Given the description of an element on the screen output the (x, y) to click on. 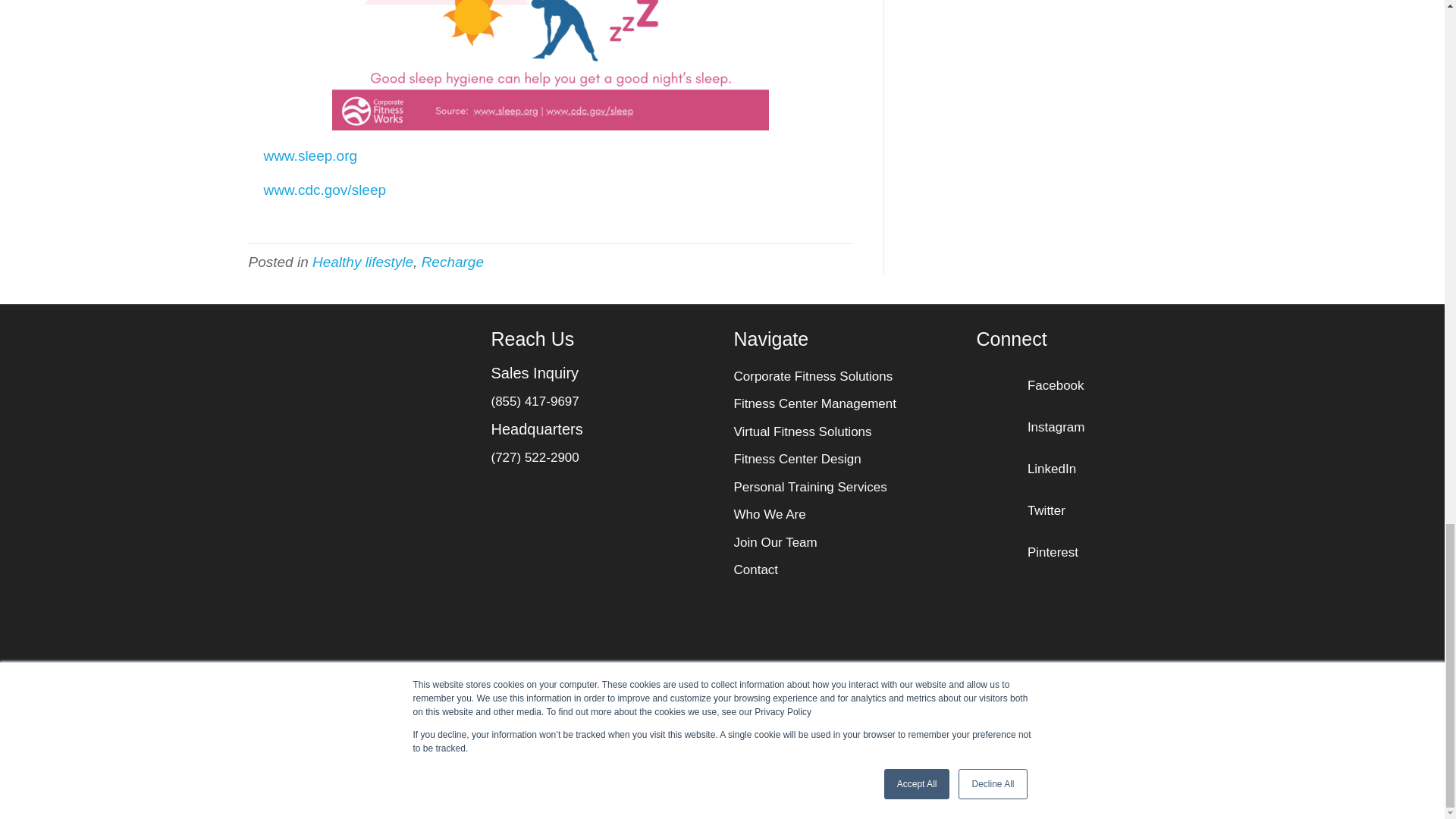
Healthy lifestyle (363, 261)
Corporate Fitness Solutions (813, 376)
Recharge (452, 261)
Infographic Sleep Hygiene is the Key to Sweet Dreams (549, 65)
www.sleep.org (310, 155)
Fitness Center Management (814, 403)
